Given the description of an element on the screen output the (x, y) to click on. 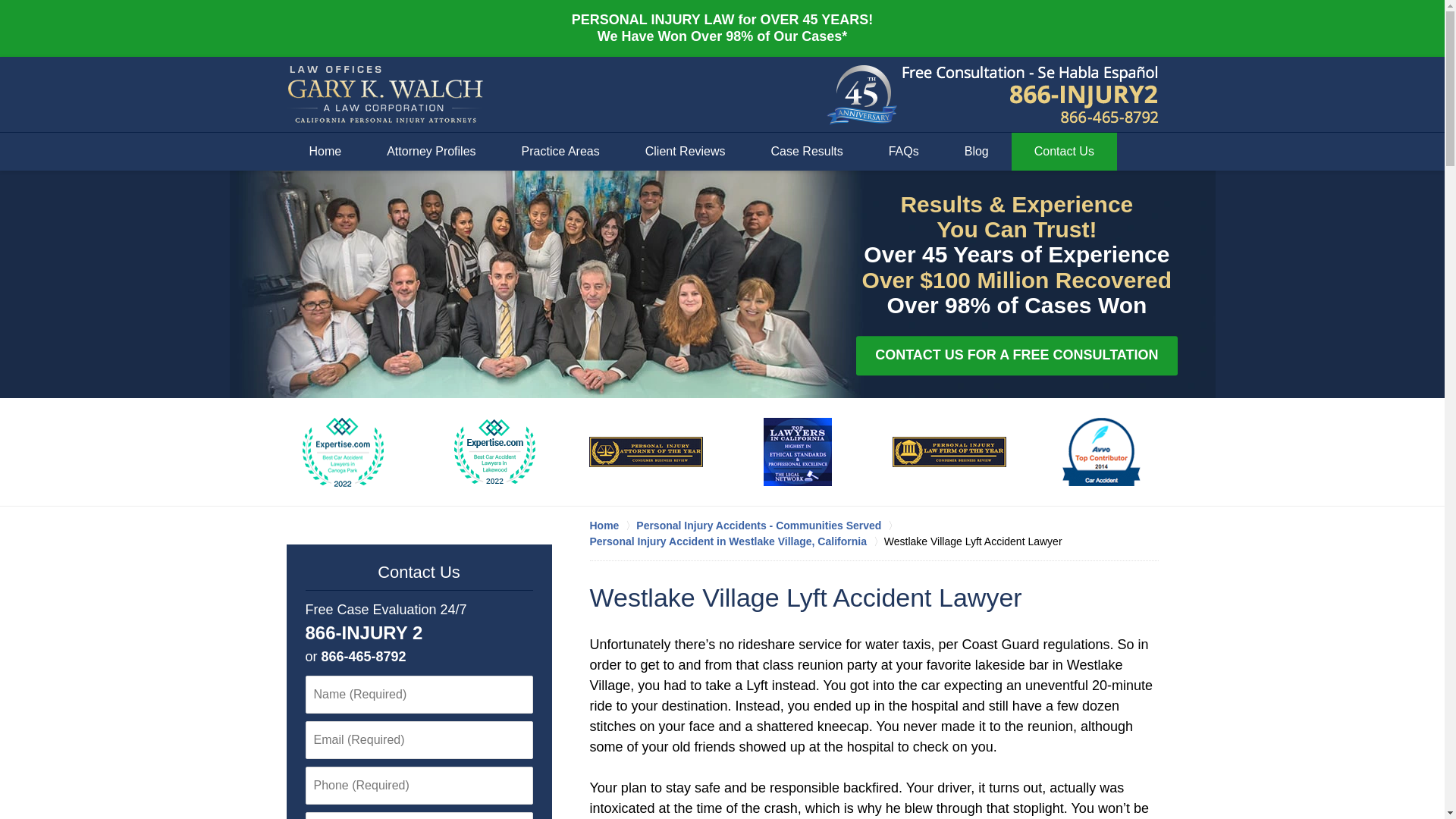
Personal Injury Accidents - Communities Served (767, 524)
Blog (976, 151)
Contact Westlake Village Car Accident Lawyers Gary K. Walch (1030, 94)
Contact Us (418, 571)
CONTACT US FOR A FREE CONSULTATION (1016, 355)
Home (613, 524)
Contact Us (1063, 151)
Case Results (807, 151)
Practice Areas (561, 151)
Los Angeles County Auto Injury Attorneys Gary K. Walch Home (384, 94)
Home (325, 151)
Personal Injury Accident in Westlake Village, California (736, 541)
Back to Home (384, 94)
Attorney Profiles (430, 151)
Client Reviews (685, 151)
